Given the description of an element on the screen output the (x, y) to click on. 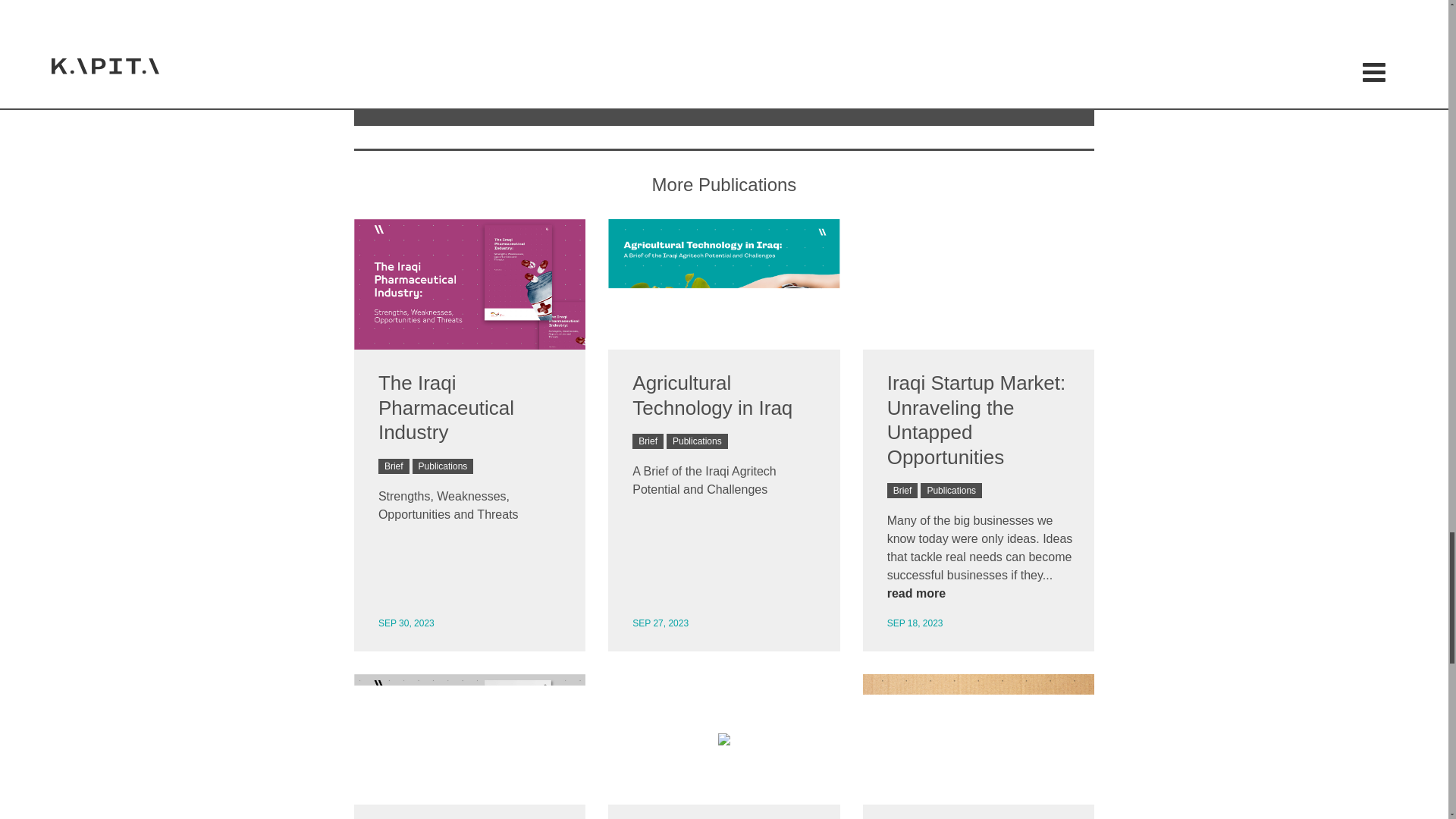
Brief (902, 490)
Iraqi Startup Market: Unraveling the Untapped Opportunities (975, 419)
Publications (443, 466)
Publications (950, 490)
Brief (393, 466)
Publications (697, 441)
The Iraqi Pharmaceutical Industry (445, 407)
read more (915, 593)
Brief (647, 441)
Agricultural Technology in Iraq (711, 395)
